Given the description of an element on the screen output the (x, y) to click on. 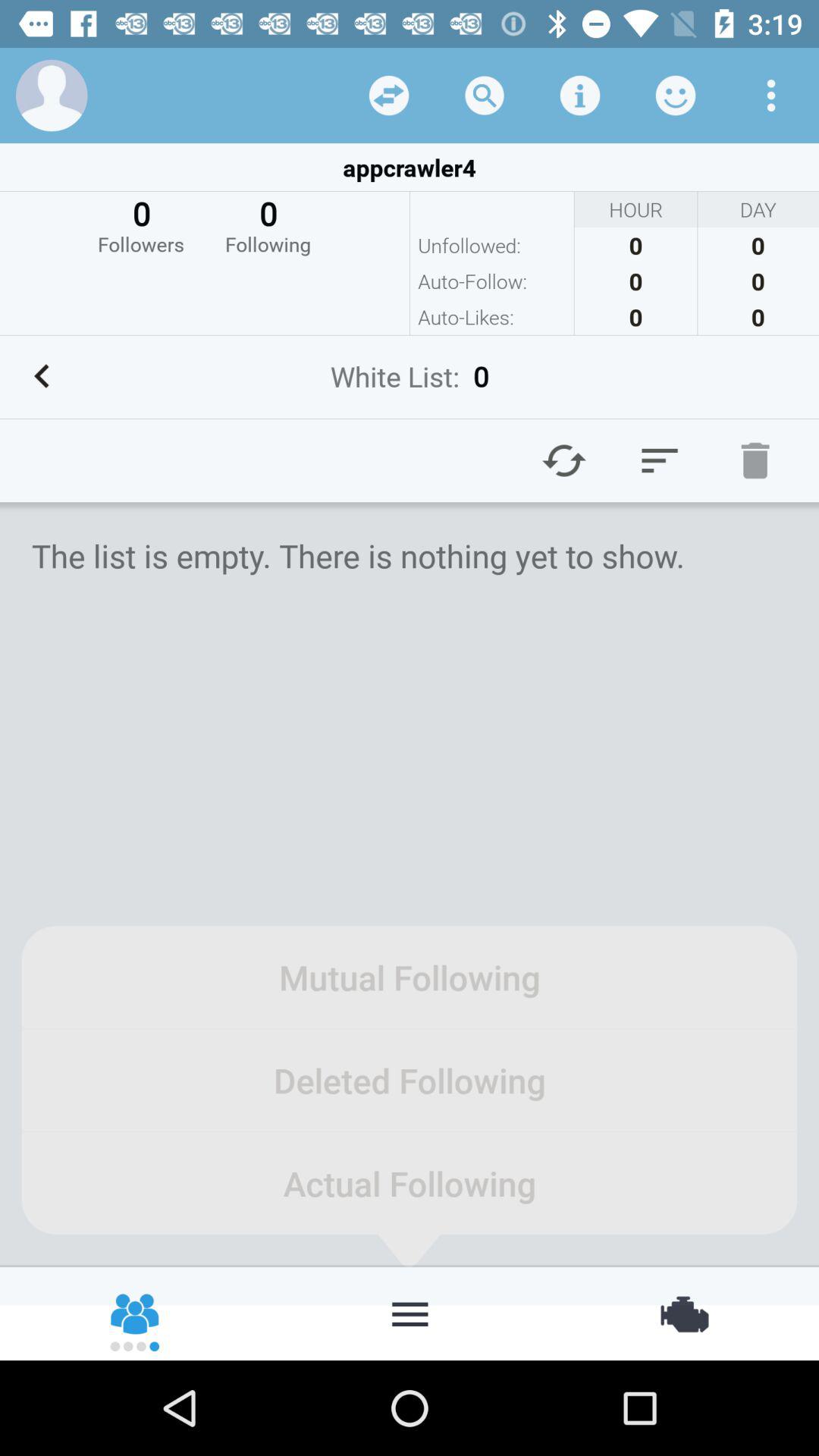
go to more options (771, 95)
